Given the description of an element on the screen output the (x, y) to click on. 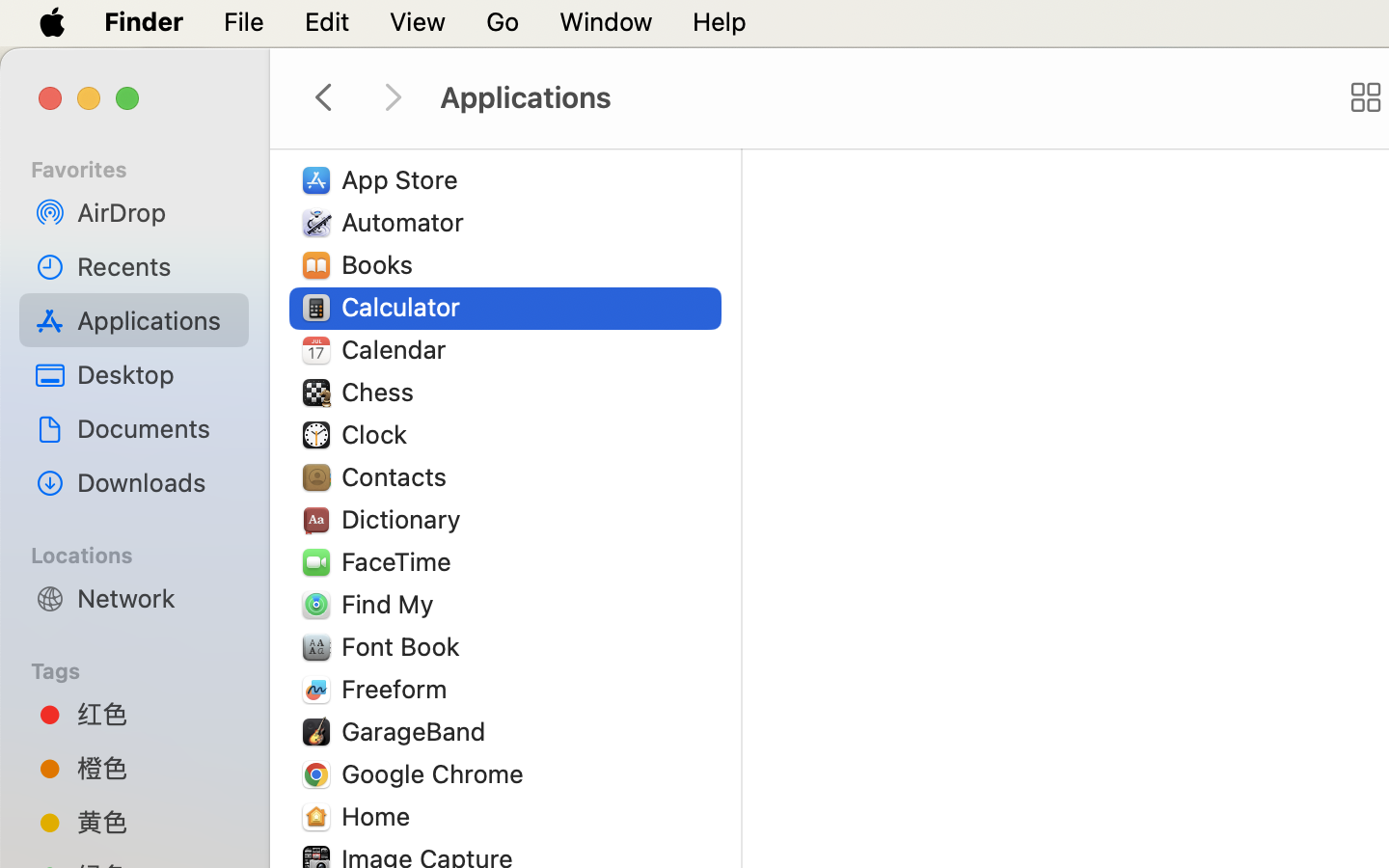
红色 Element type: AXStaticText (155, 713)
Chess Element type: AXTextField (381, 391)
Applications Element type: AXStaticText (875, 98)
Contacts Element type: AXTextField (398, 476)
Network Element type: AXStaticText (155, 597)
